Given the description of an element on the screen output the (x, y) to click on. 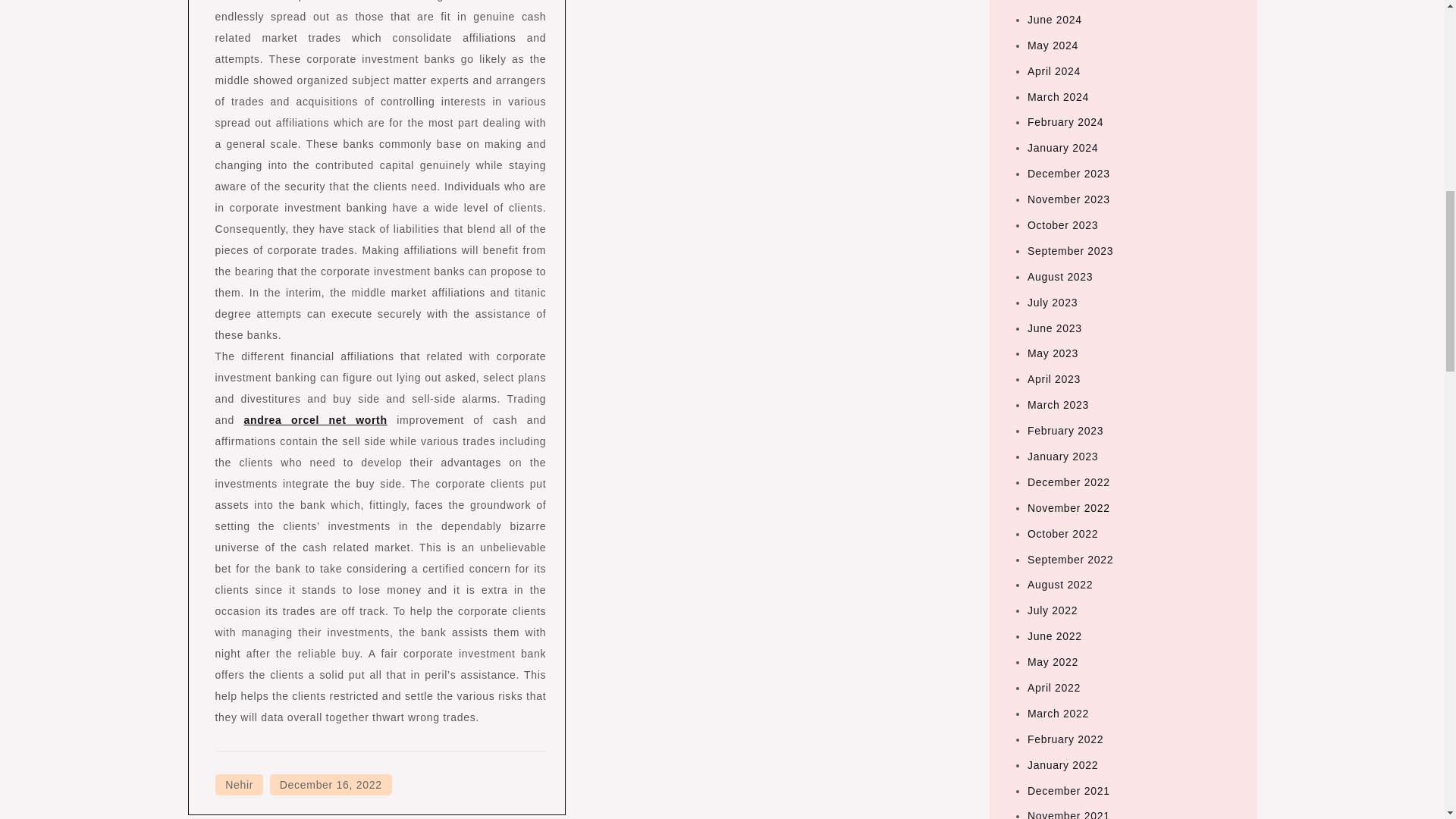
Nehir (239, 784)
andrea orcel net worth (315, 419)
December 16, 2022 (330, 784)
